Given the description of an element on the screen output the (x, y) to click on. 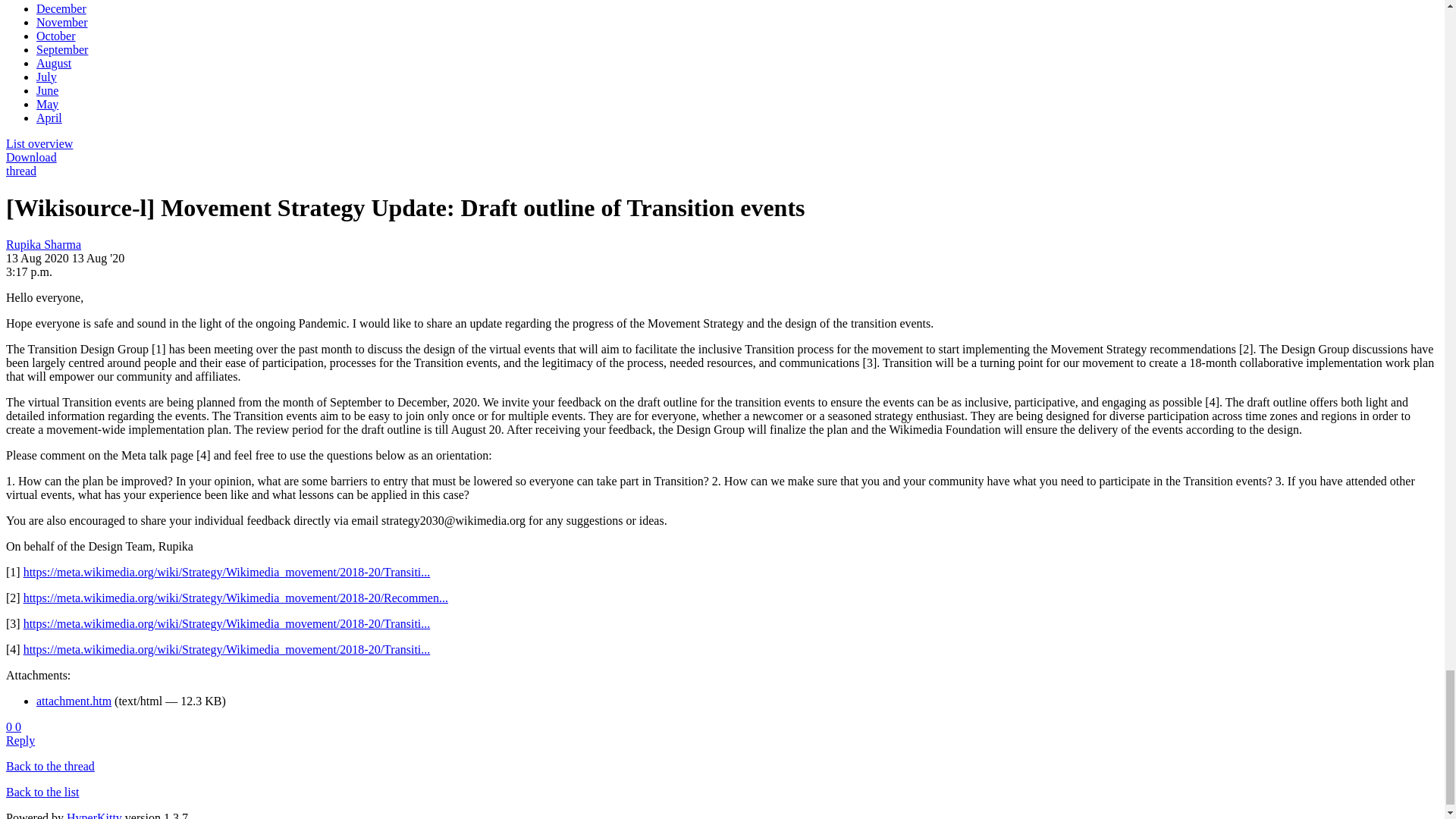
See the profile for Rupika Sharma (43, 244)
Sender's time: Aug. 13, 2020, 8:47 p.m. (28, 271)
You must be logged-in to vote. (17, 726)
Sign in to reply online (19, 739)
This message in gzipped mbox format (30, 156)
You must be logged-in to vote. (9, 726)
